Given the description of an element on the screen output the (x, y) to click on. 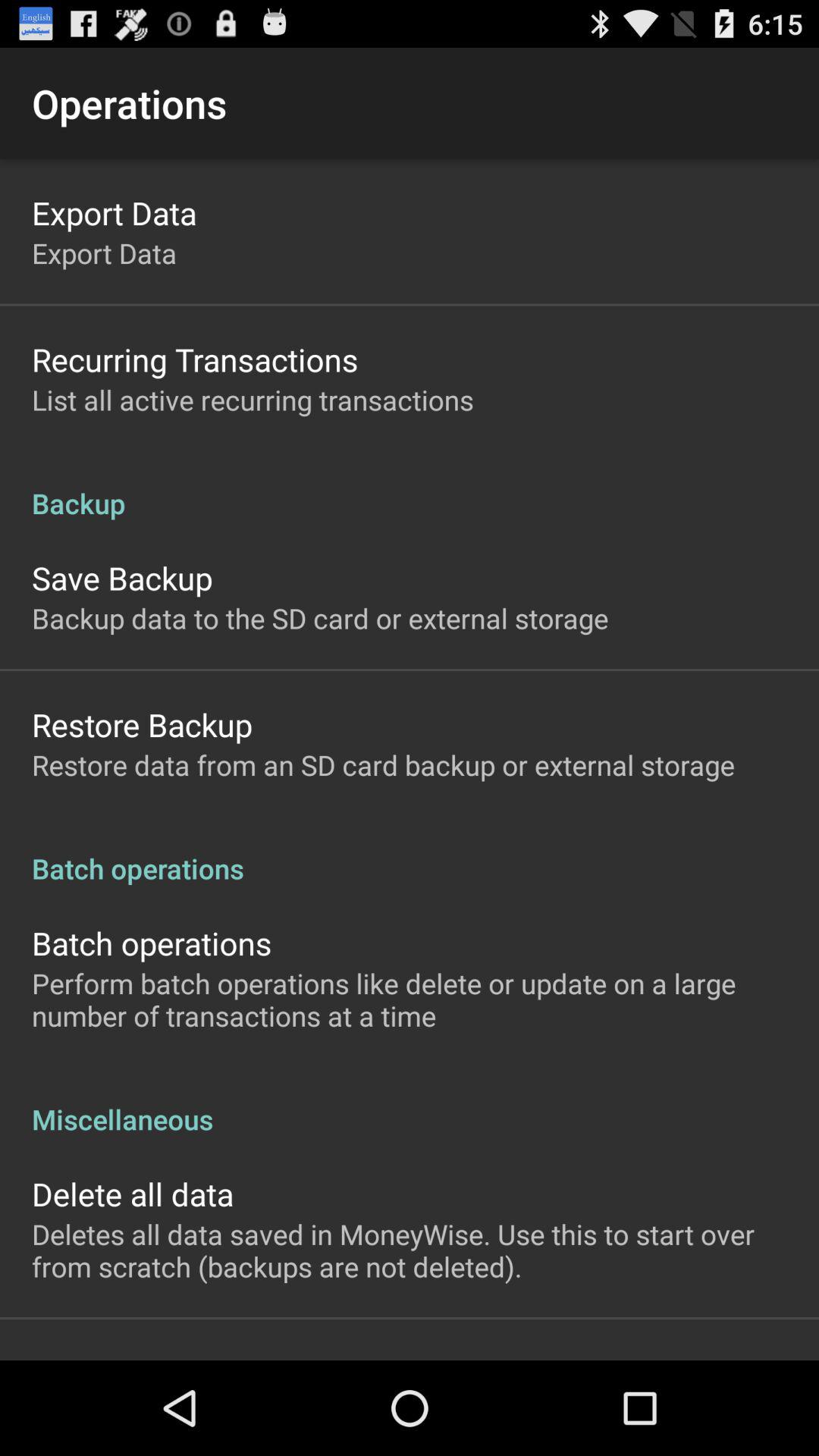
click the icon above the delete all data app (409, 1103)
